Given the description of an element on the screen output the (x, y) to click on. 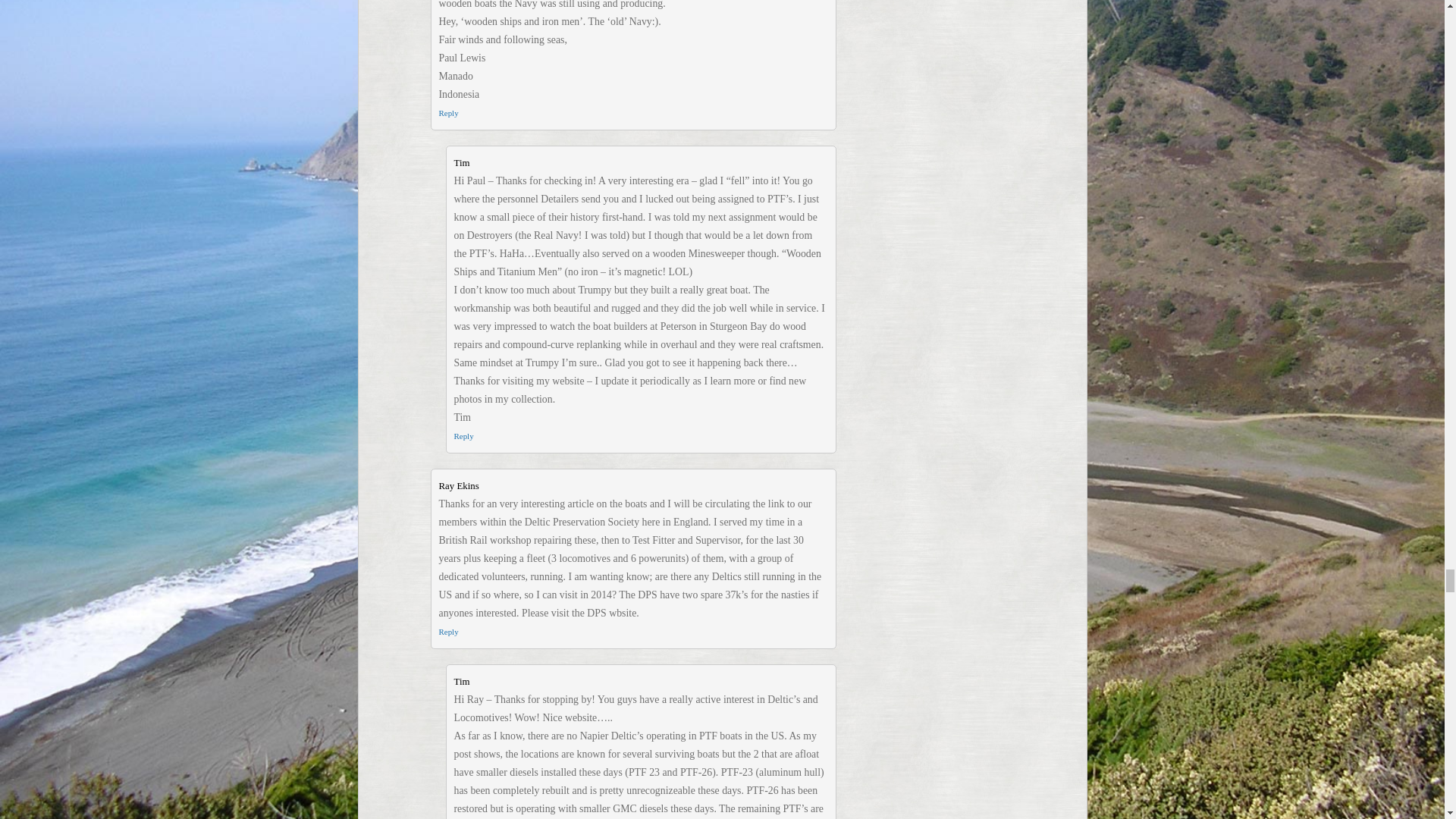
Reply (462, 435)
Reply (448, 112)
Reply (448, 631)
